Given the description of an element on the screen output the (x, y) to click on. 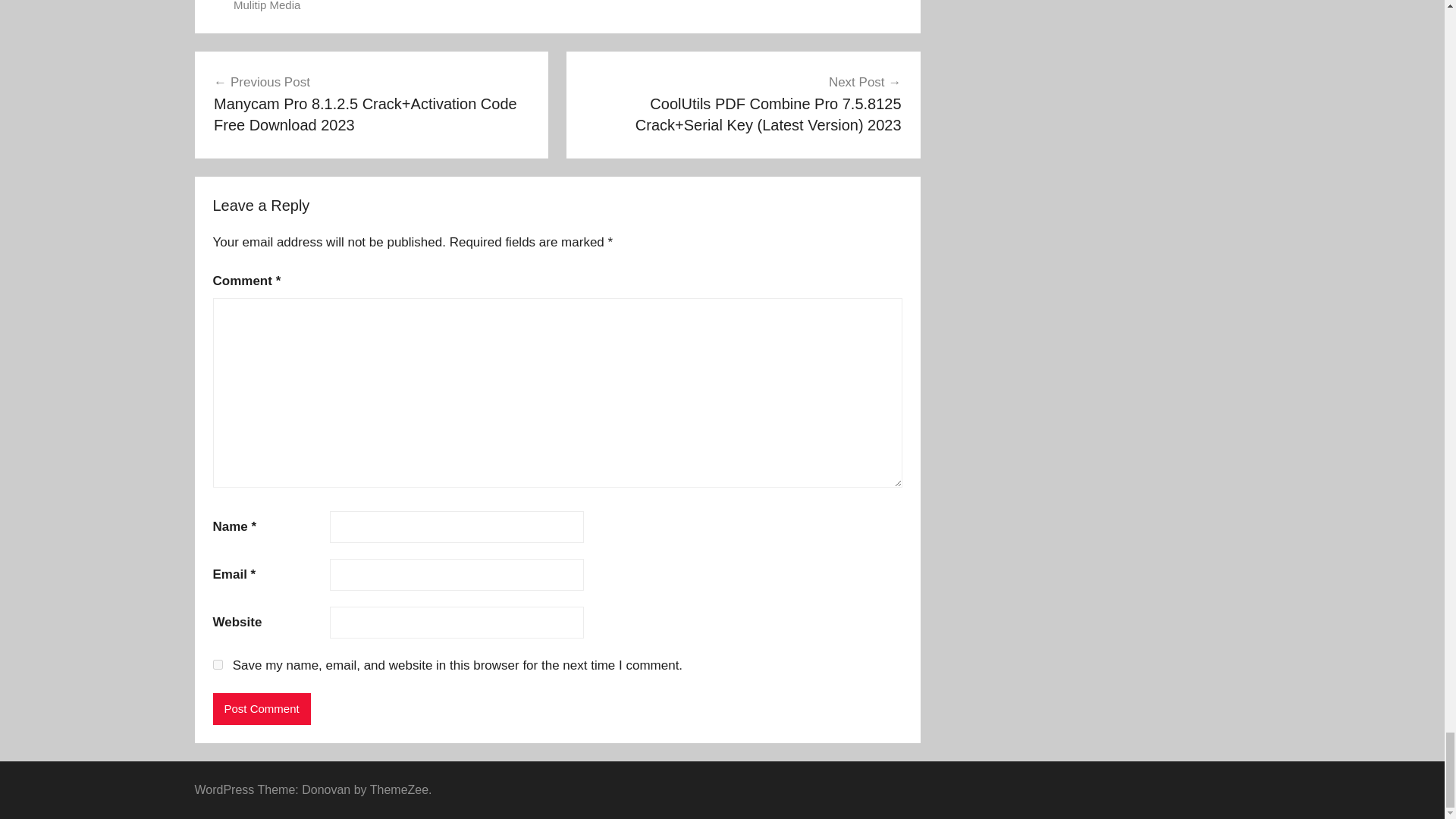
yes (217, 664)
Post Comment (261, 707)
